Given the description of an element on the screen output the (x, y) to click on. 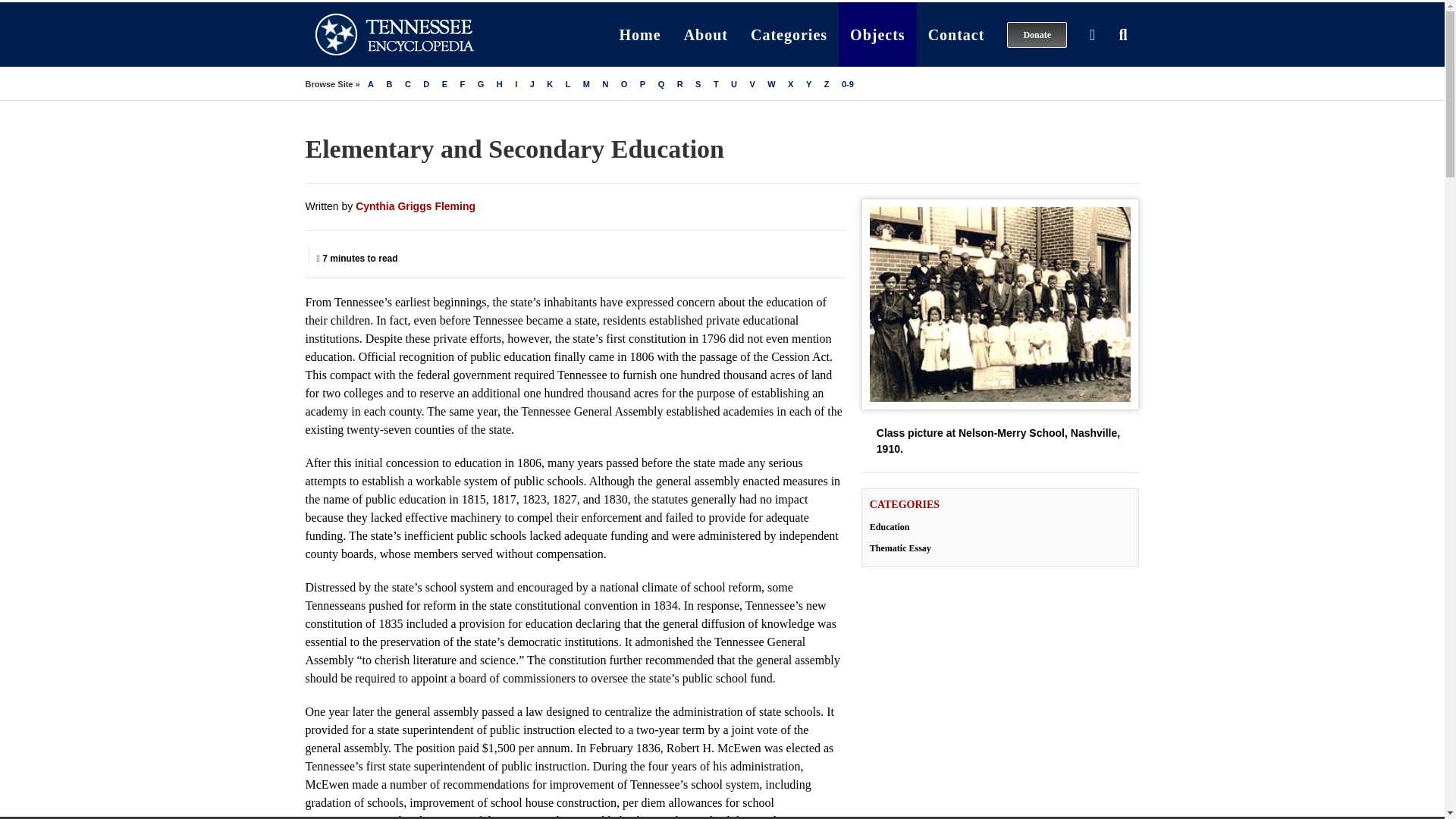
Browse content in Education. (1000, 526)
Home (640, 34)
Categories (788, 34)
Browse content in Thematic Essay. (1000, 548)
Learn more about Cynthia Griggs Fleming. (415, 205)
About (705, 34)
Contact (956, 34)
Elementary And Secondary Education (1000, 304)
Objects (877, 34)
Donate (1036, 34)
